Given the description of an element on the screen output the (x, y) to click on. 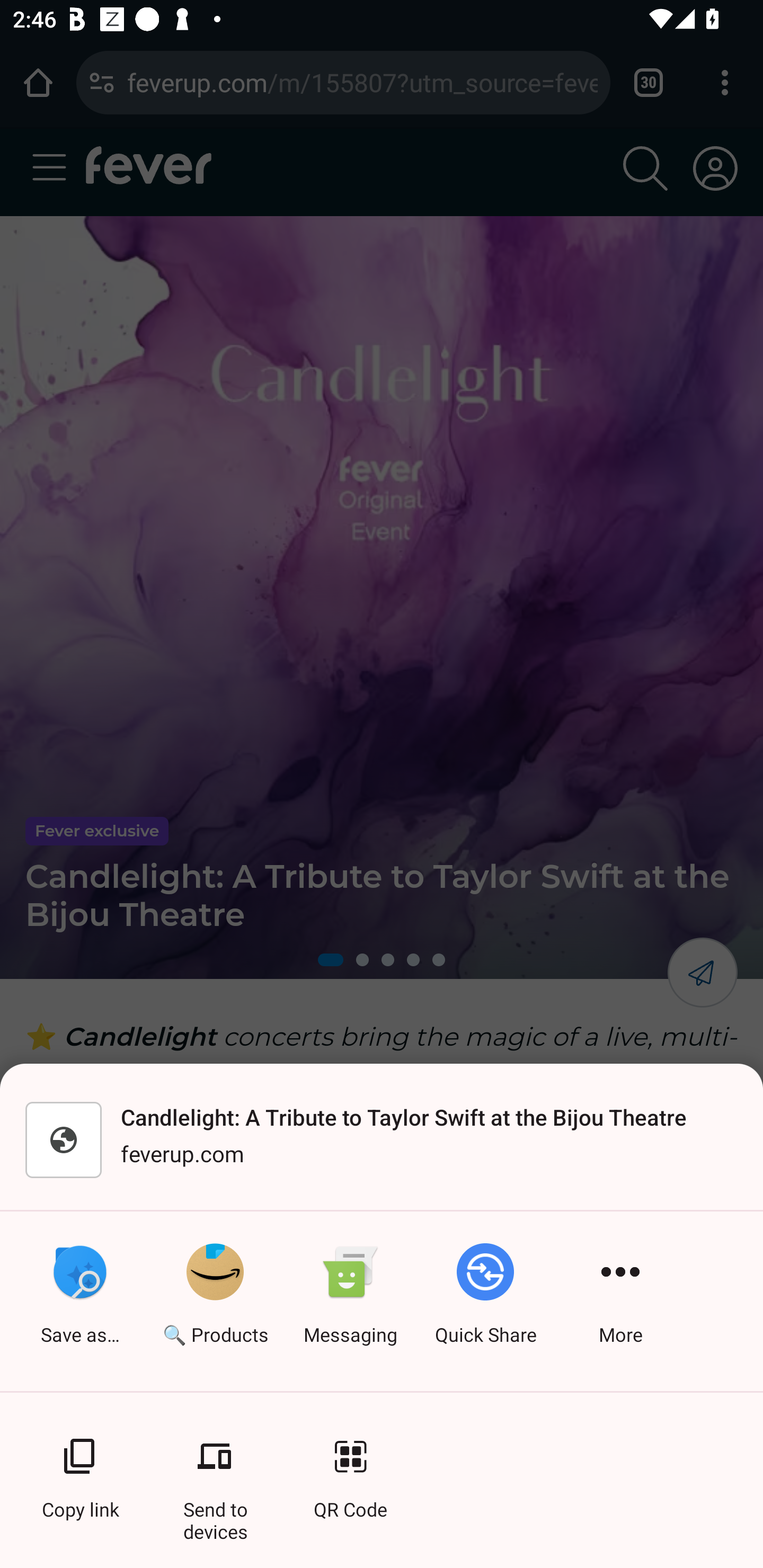
Open the home page (38, 82)
Connection is secure (101, 82)
Switch or close tabs (648, 82)
Customize and control Google Chrome (724, 82)
Save as… (80, 1301)
🔍 Products (215, 1301)
Messaging (350, 1301)
Quick Share (485, 1301)
More (620, 1301)
Copy link (80, 1468)
Send to devices (215, 1468)
QR Code (350, 1468)
